Given the description of an element on the screen output the (x, y) to click on. 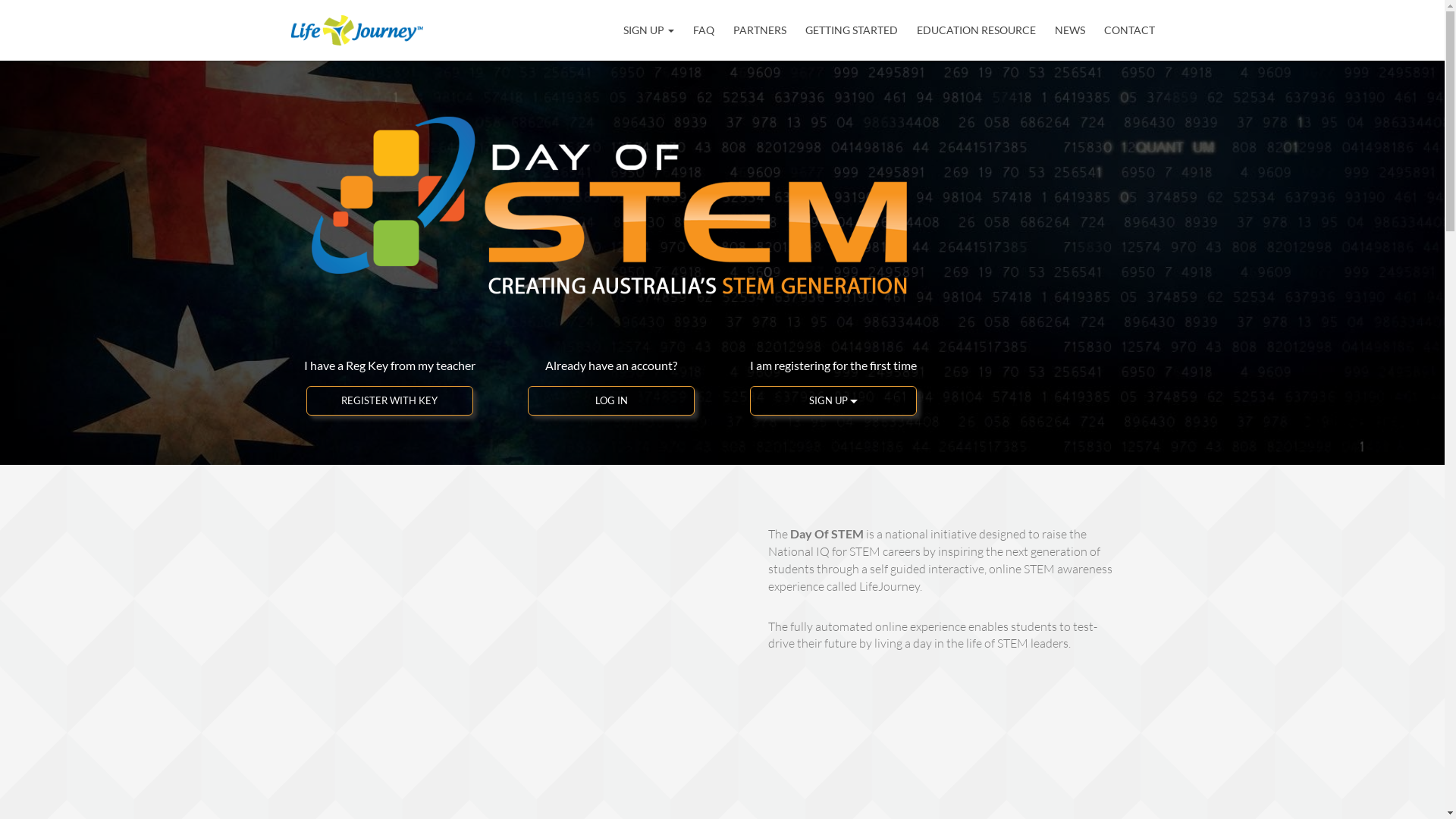
PARTNERS Element type: text (758, 30)
NEWS Element type: text (1069, 30)
CONTACT Element type: text (1129, 30)
SIGN UP Element type: text (832, 400)
SIGN UP Element type: text (648, 30)
EDUCATION RESOURCE Element type: text (975, 30)
GETTING STARTED Element type: text (851, 30)
LOG IN Element type: text (610, 400)
HOME Element type: text (621, 29)
FAQ Element type: text (703, 30)
REGISTER WITH KEY Element type: text (389, 400)
